Given the description of an element on the screen output the (x, y) to click on. 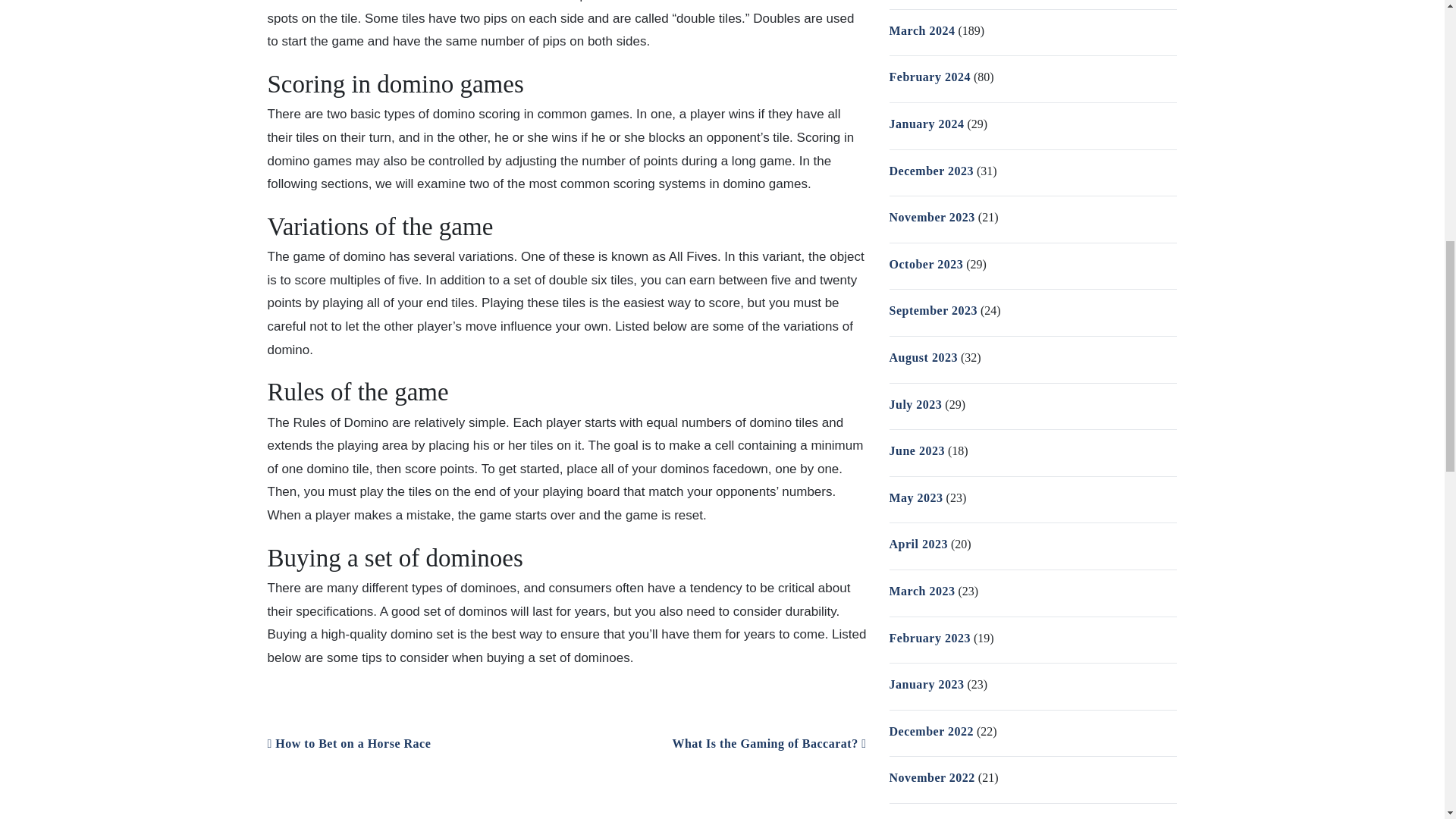
May 2023 (915, 497)
March 2023 (921, 590)
December 2022 (931, 730)
July 2023 (915, 404)
April 2023 (917, 543)
August 2023 (922, 357)
November 2023 (931, 216)
How to Bet on a Horse Race (348, 743)
June 2023 (915, 450)
September 2023 (932, 309)
October 2023 (925, 264)
What Is the Gaming of Baccarat? (768, 743)
March 2024 (921, 30)
January 2023 (925, 684)
